Given the description of an element on the screen output the (x, y) to click on. 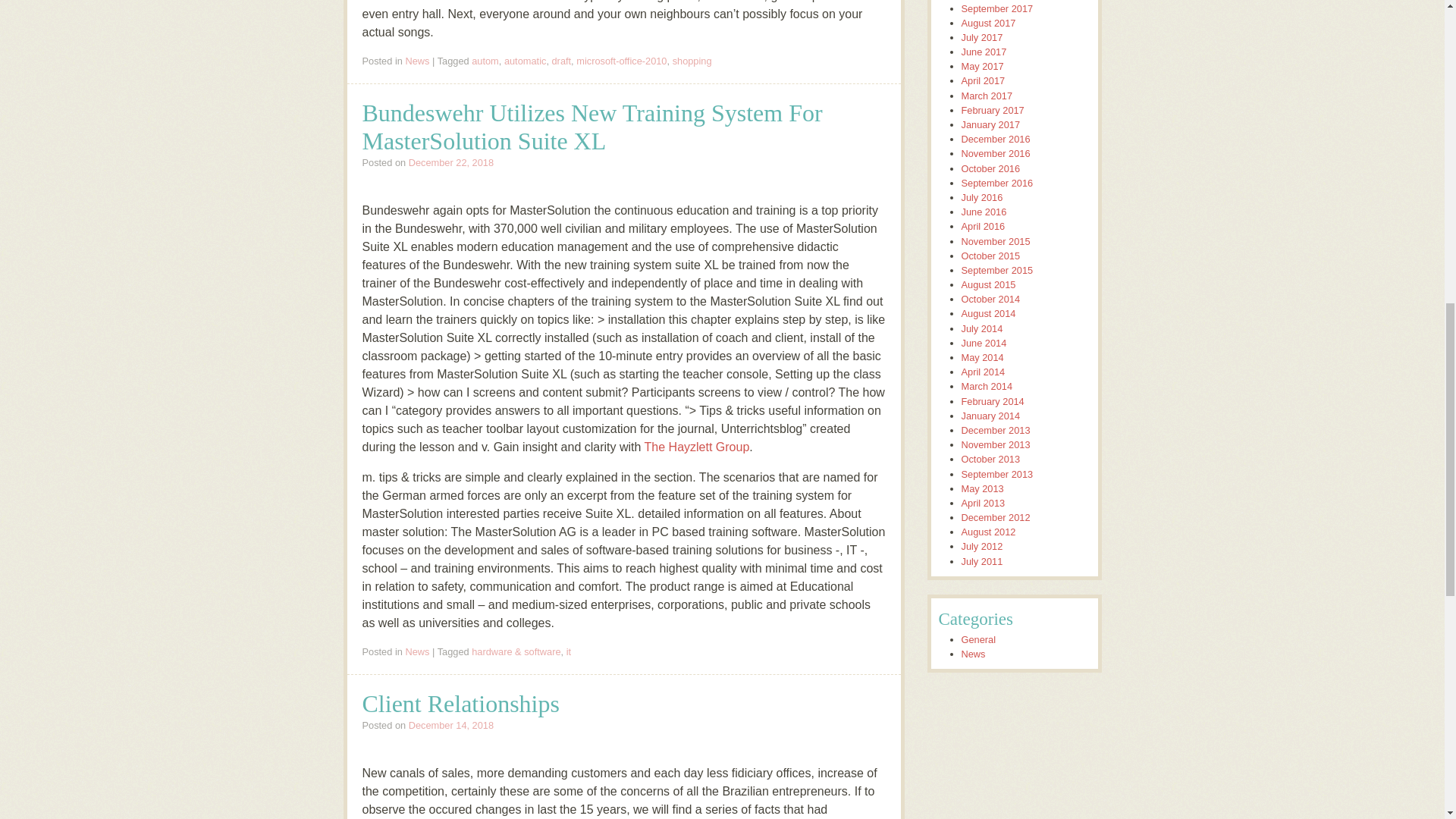
The Hayzlett Group (697, 446)
News (416, 60)
1:57 am (451, 725)
News (416, 651)
draft (561, 60)
December 14, 2018 (451, 725)
shopping (691, 60)
microsoft-office-2010 (621, 60)
automatic (524, 60)
Permalink to Client Relationships (460, 704)
Client Relationships (460, 704)
1:41 am (451, 162)
autom (485, 60)
